Given the description of an element on the screen output the (x, y) to click on. 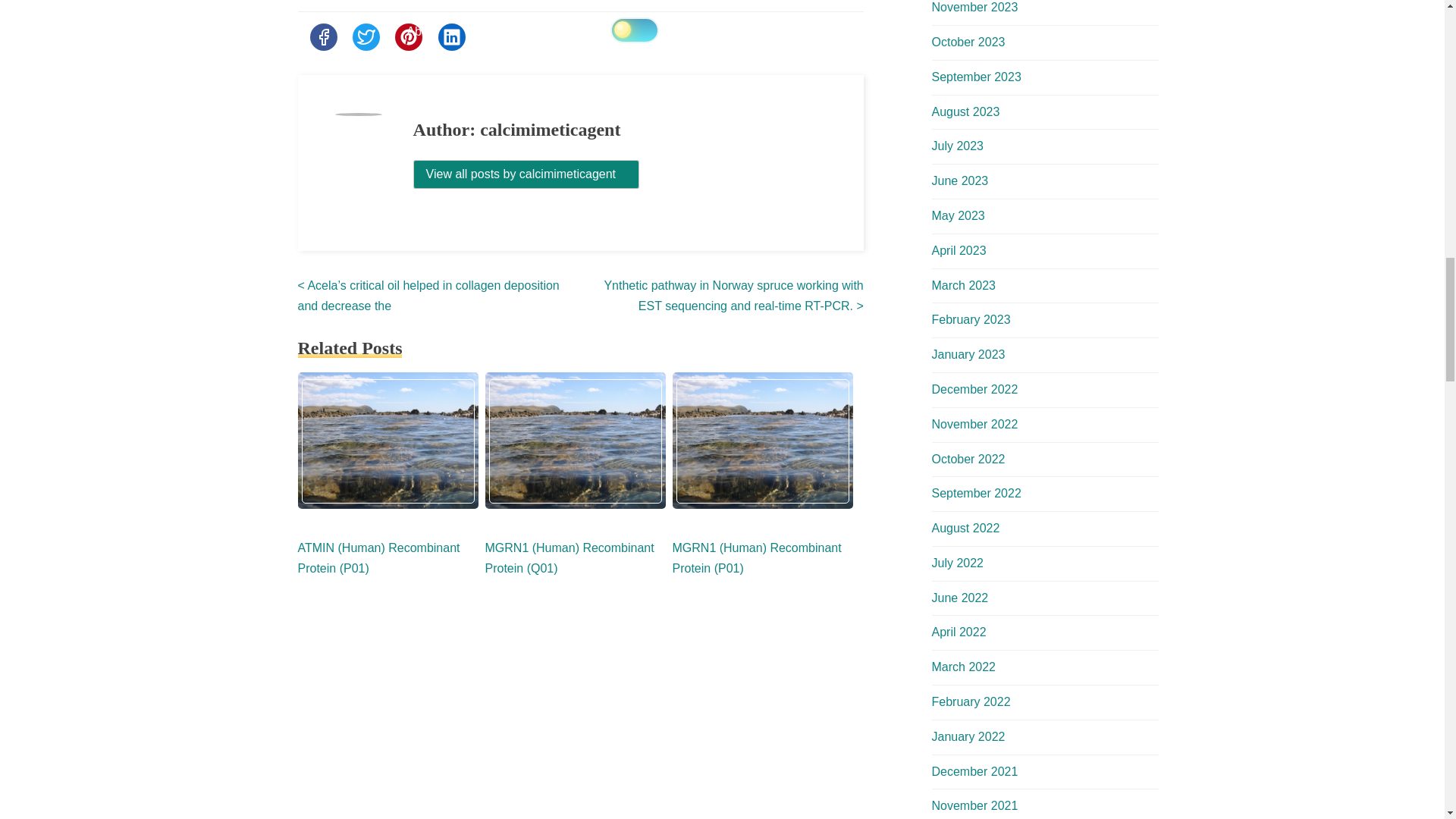
View all posts by calcimimeticagent (526, 173)
Share this post on Pinterest (408, 36)
Share this post on Facebook (322, 36)
View all posts by calcimimeticagent (526, 173)
Share this post on Twitter (366, 36)
Share this post on Linkedin (451, 36)
